Given the description of an element on the screen output the (x, y) to click on. 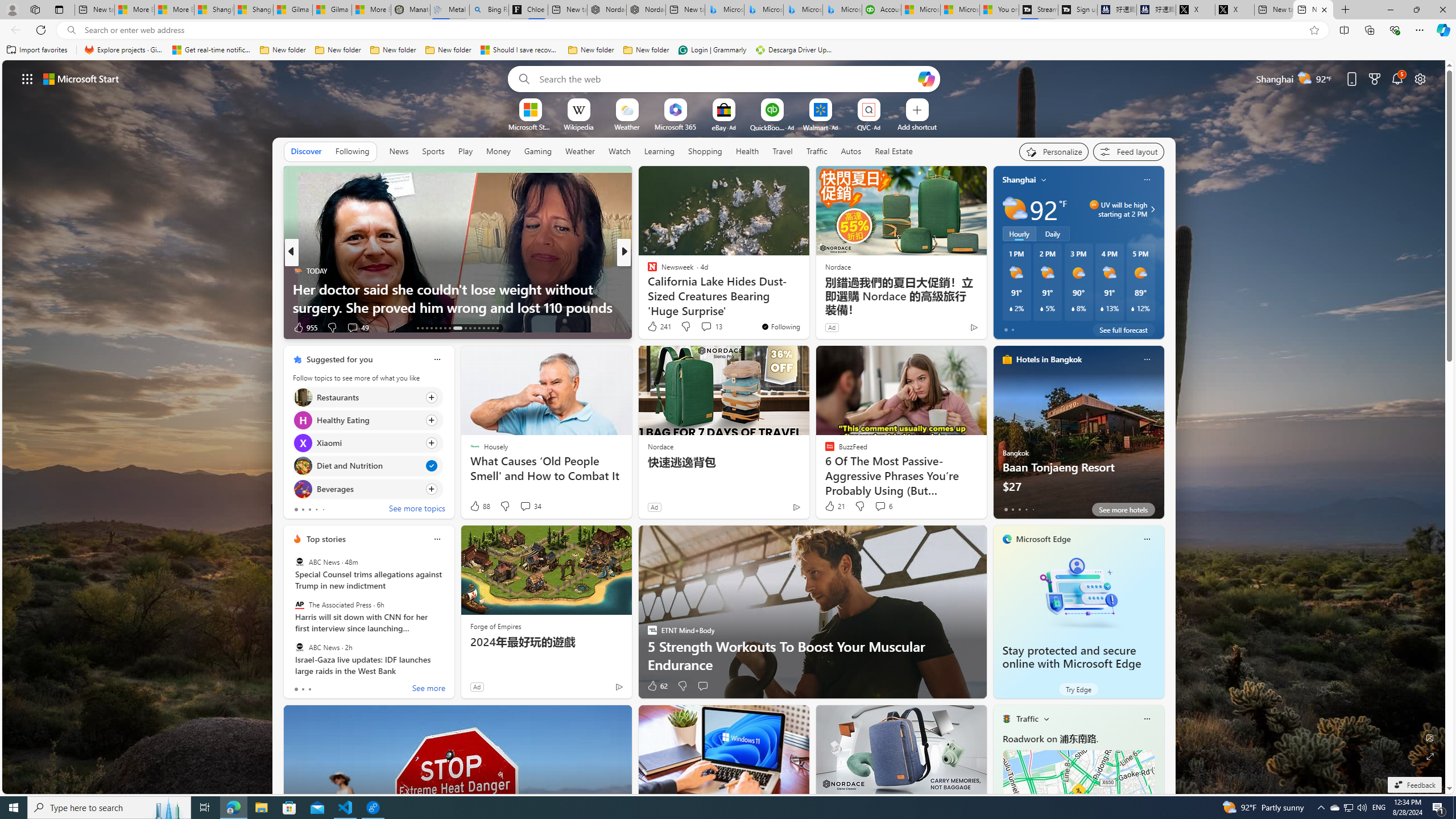
Suggested for you (338, 359)
Class: control (27, 78)
Watch (619, 151)
227 Like (654, 327)
Manatee Mortality Statistics | FWC (410, 9)
You're following Newsweek (780, 326)
Gilma and Hector both pose tropical trouble for Hawaii (331, 9)
View comments 22 Comment (707, 327)
Partly sunny (1014, 208)
Hotels in Bangkok (1048, 359)
Georgia quarterback commit to miss season with knee injury (807, 298)
